Given the description of an element on the screen output the (x, y) to click on. 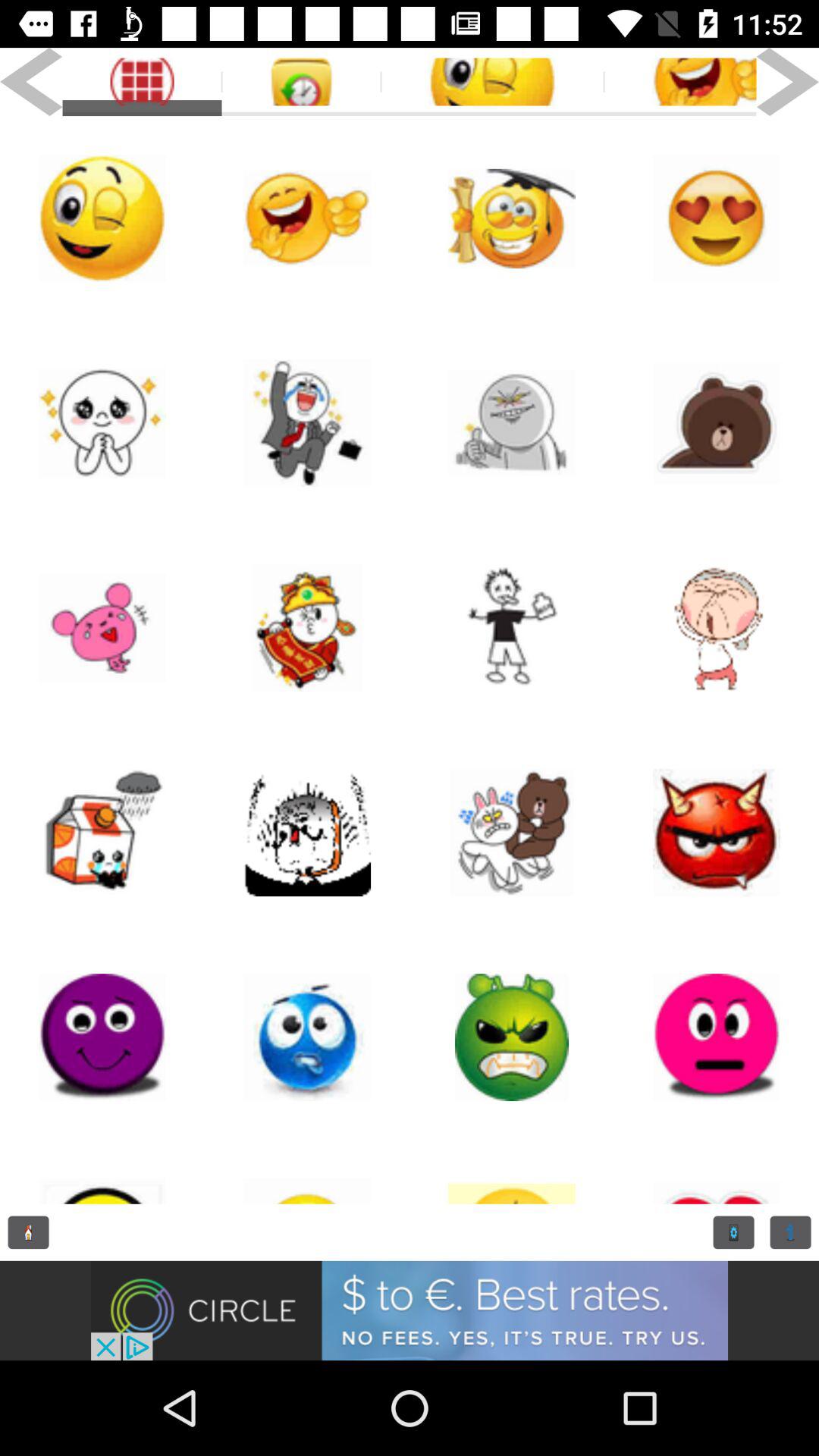
use the sticker of the mobile (102, 832)
